Given the description of an element on the screen output the (x, y) to click on. 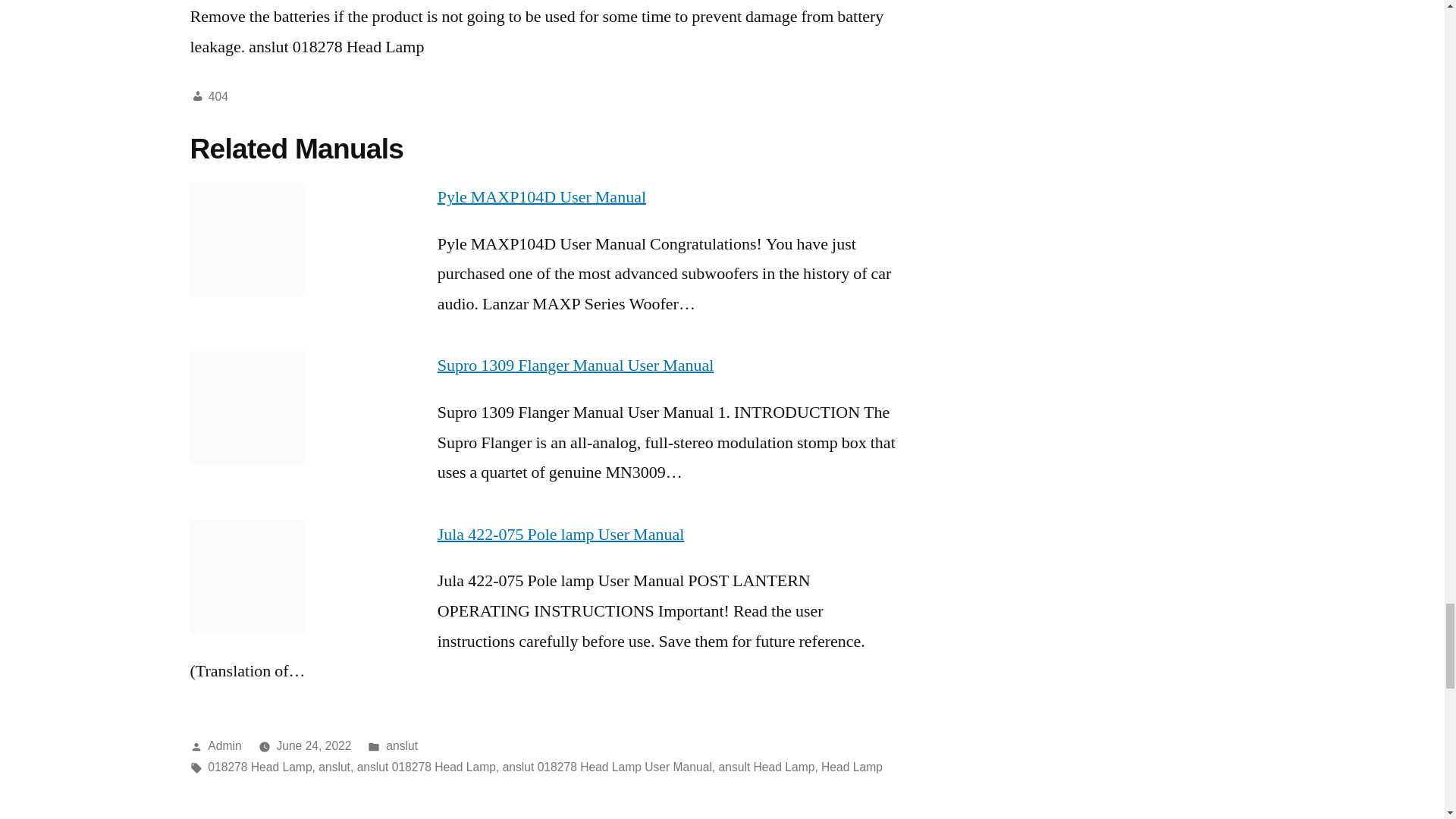
Pyle MAXP104D User Manual (542, 197)
Supro 1309 Flanger Manual User Manual (576, 364)
